Given the description of an element on the screen output the (x, y) to click on. 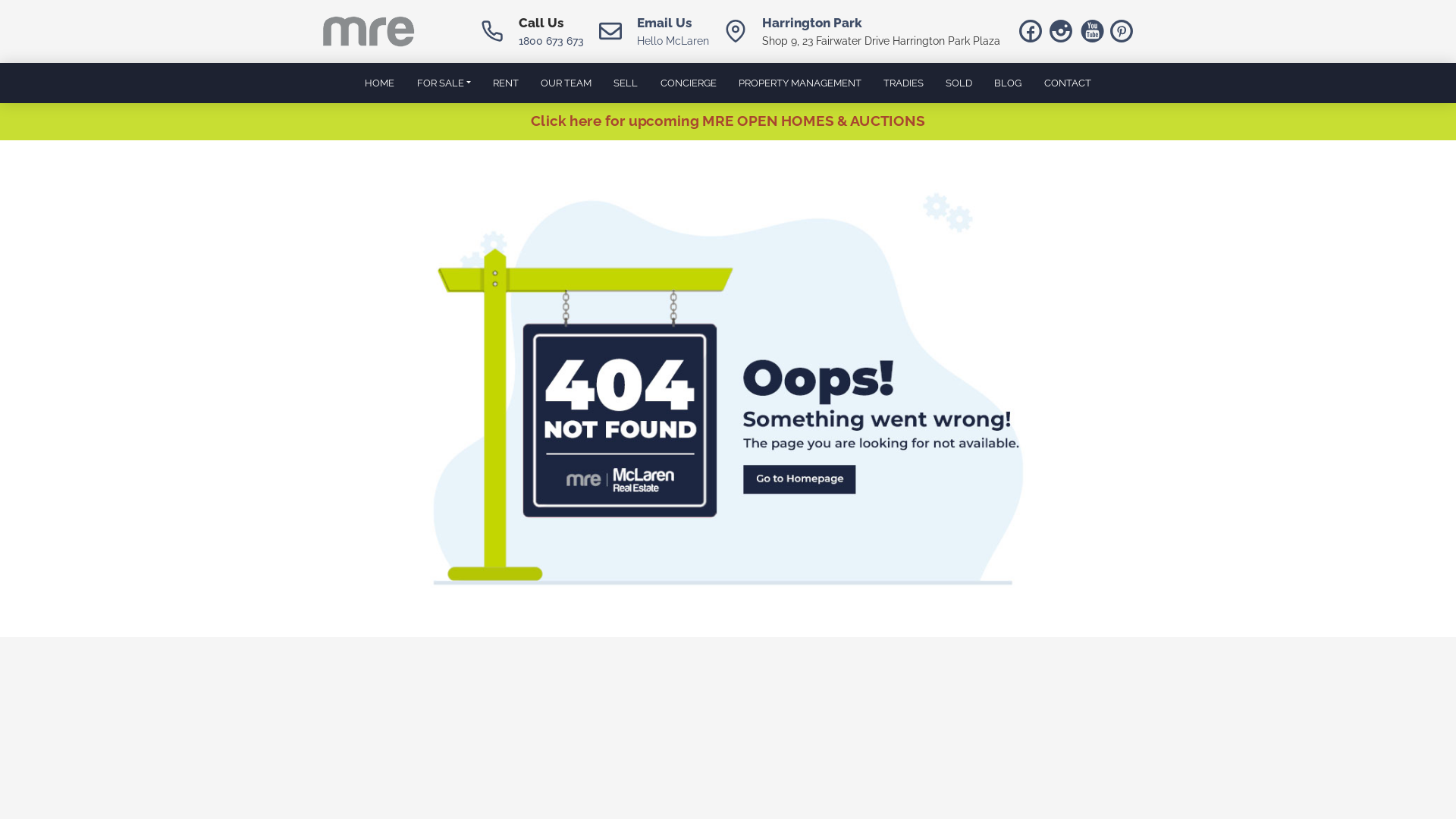
SELL Element type: text (625, 82)
CONCIERGE Element type: text (687, 82)
SOLD Element type: text (958, 82)
PROPERTY MANAGEMENT Element type: text (799, 82)
OUR TEAM Element type: text (566, 82)
TRADIES Element type: text (902, 82)
1800 673 673 Element type: text (550, 40)
Hello McLaren Element type: text (673, 40)
CONTACT Element type: text (1067, 82)
HOME Element type: text (379, 82)
FOR SALE Element type: text (443, 82)
BLOG Element type: text (1008, 82)
RENT Element type: text (505, 82)
